Given the description of an element on the screen output the (x, y) to click on. 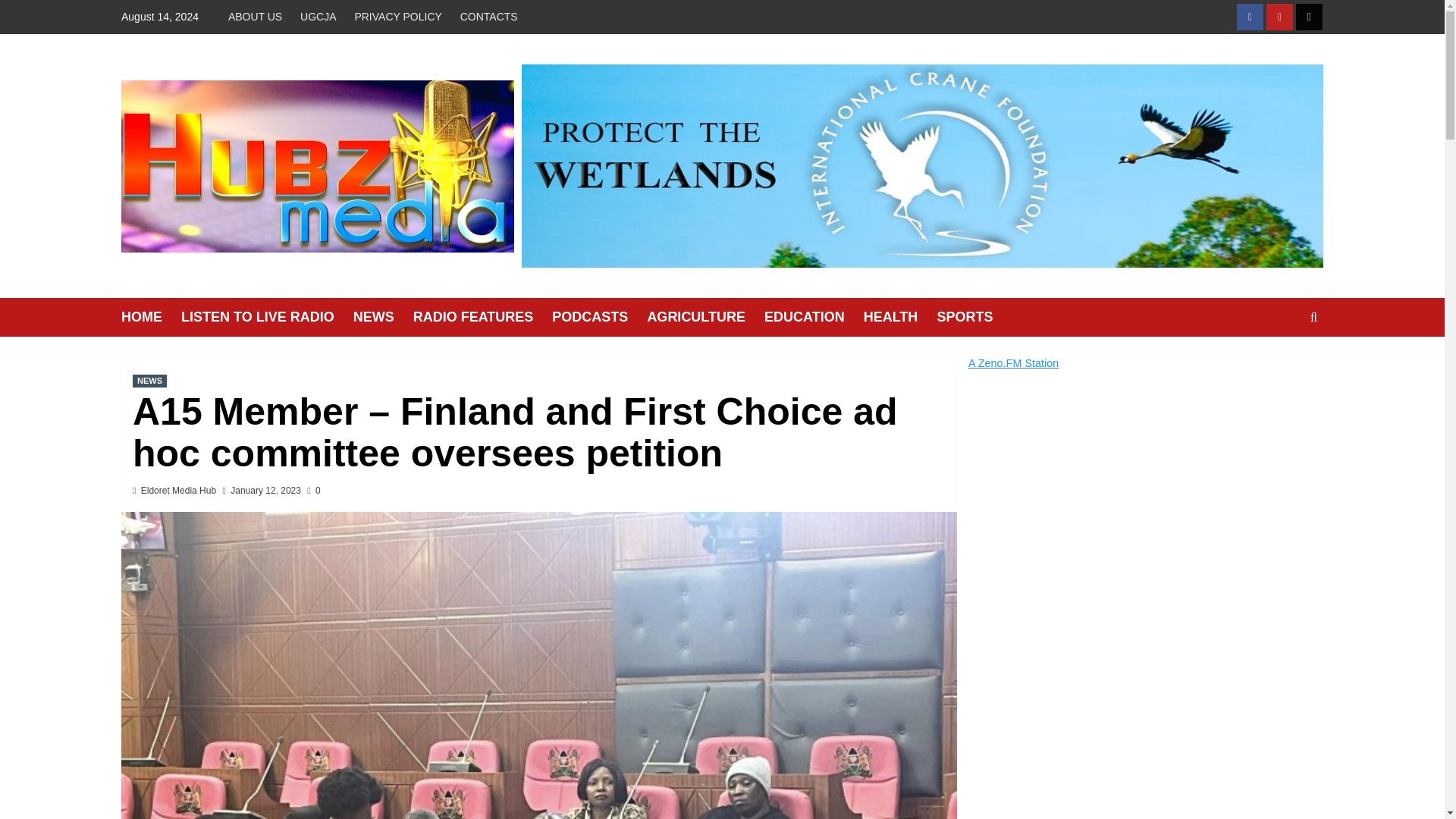
NEWS (149, 380)
FACEBOOK (1249, 17)
0 (313, 490)
HOME (150, 317)
UGCJA (317, 17)
PODCASTS (598, 317)
YOUTUBE (1279, 17)
AGRICULTURE (705, 317)
Search (1278, 364)
RADIO FEATURES (483, 317)
